Given the description of an element on the screen output the (x, y) to click on. 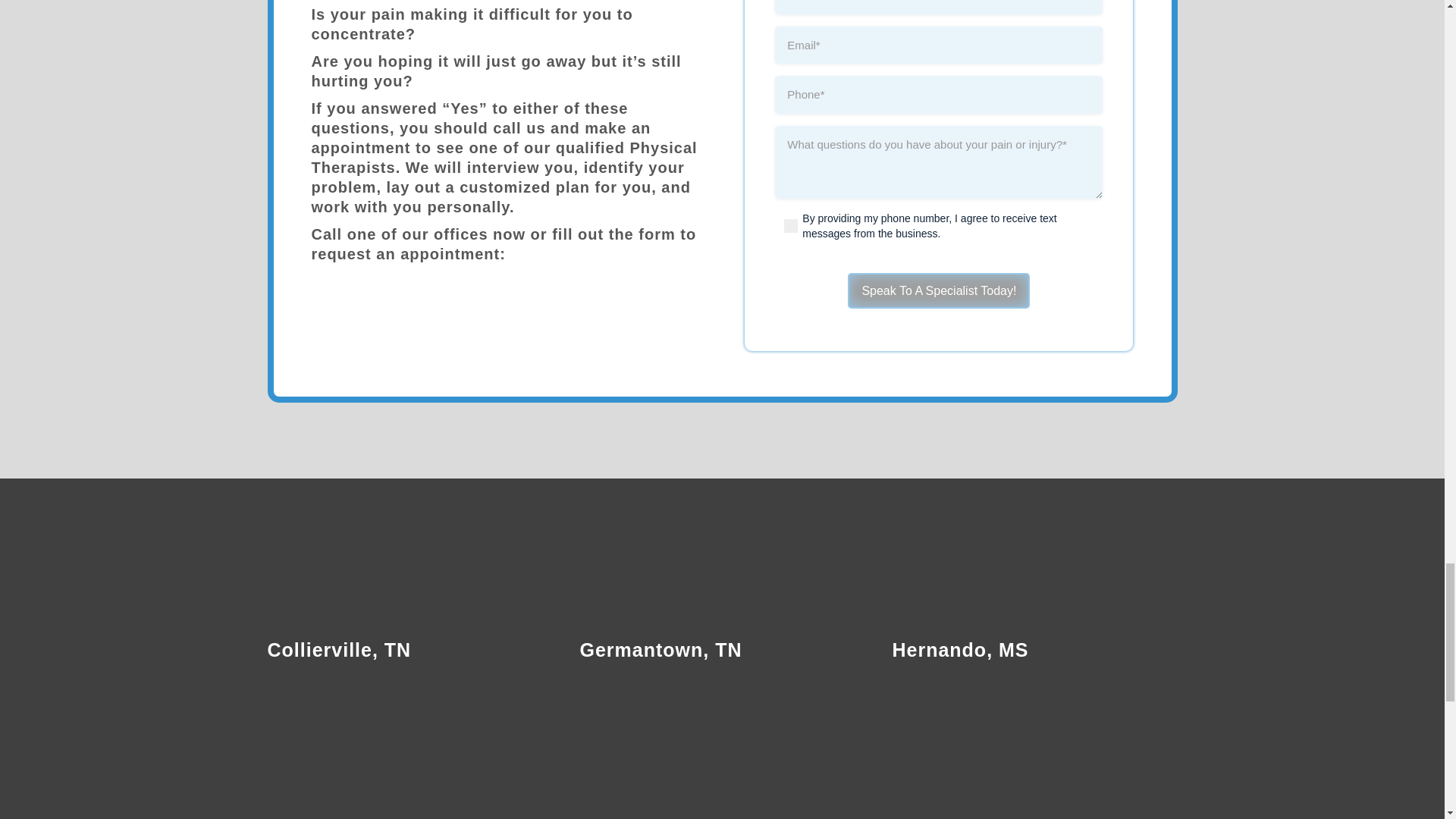
Speak To A Specialist Today! (938, 290)
request-arrow (633, 313)
pittman-white-logo (721, 546)
